Given the description of an element on the screen output the (x, y) to click on. 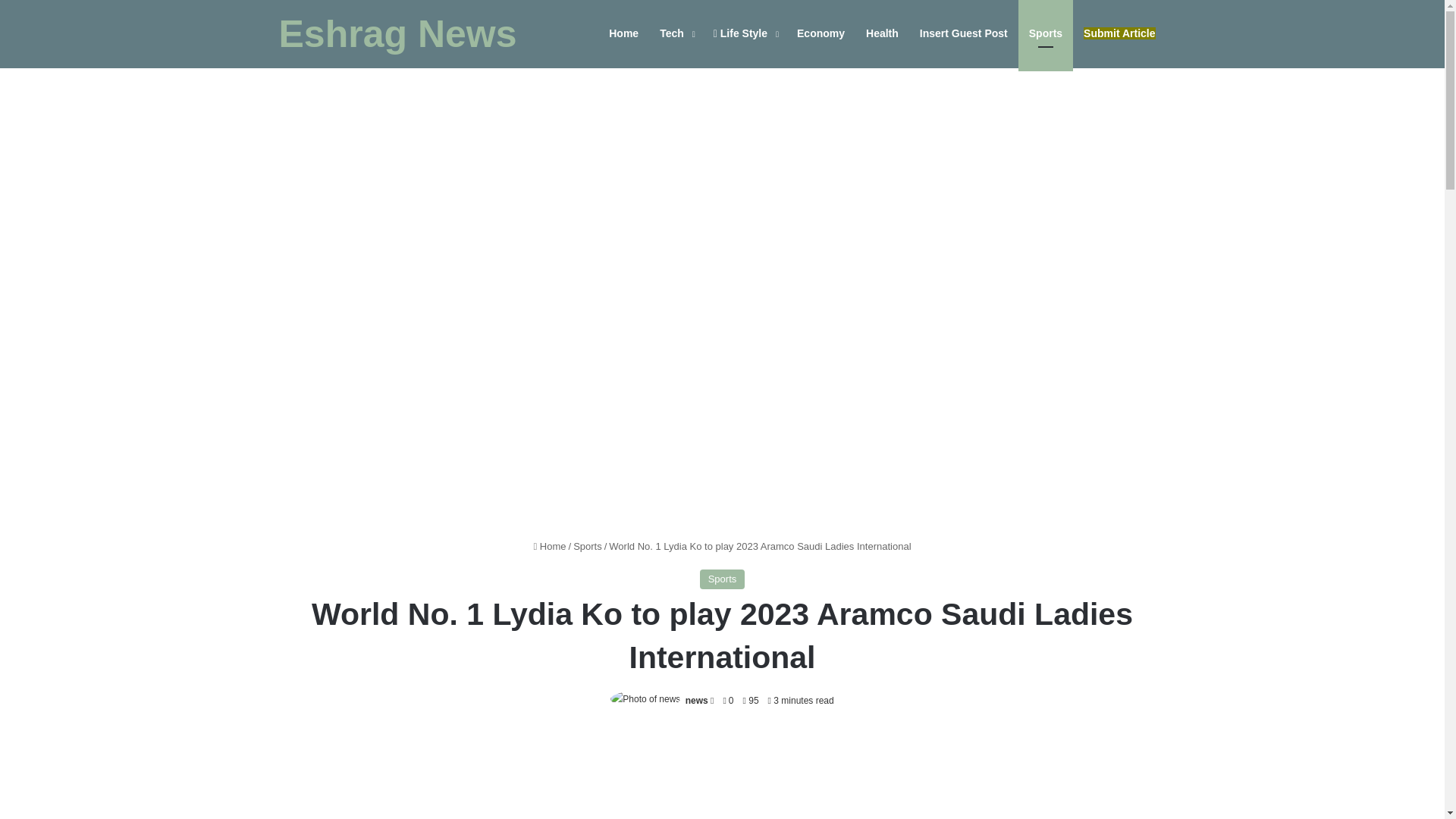
Eshrag News (397, 34)
Sports (1045, 33)
Sports (722, 578)
Health (882, 33)
news (696, 700)
Insert Guest Post (962, 33)
Advertisement (722, 775)
Economy (821, 33)
news (696, 700)
Life Style (744, 33)
Home (623, 33)
Tech (676, 33)
